Given the description of an element on the screen output the (x, y) to click on. 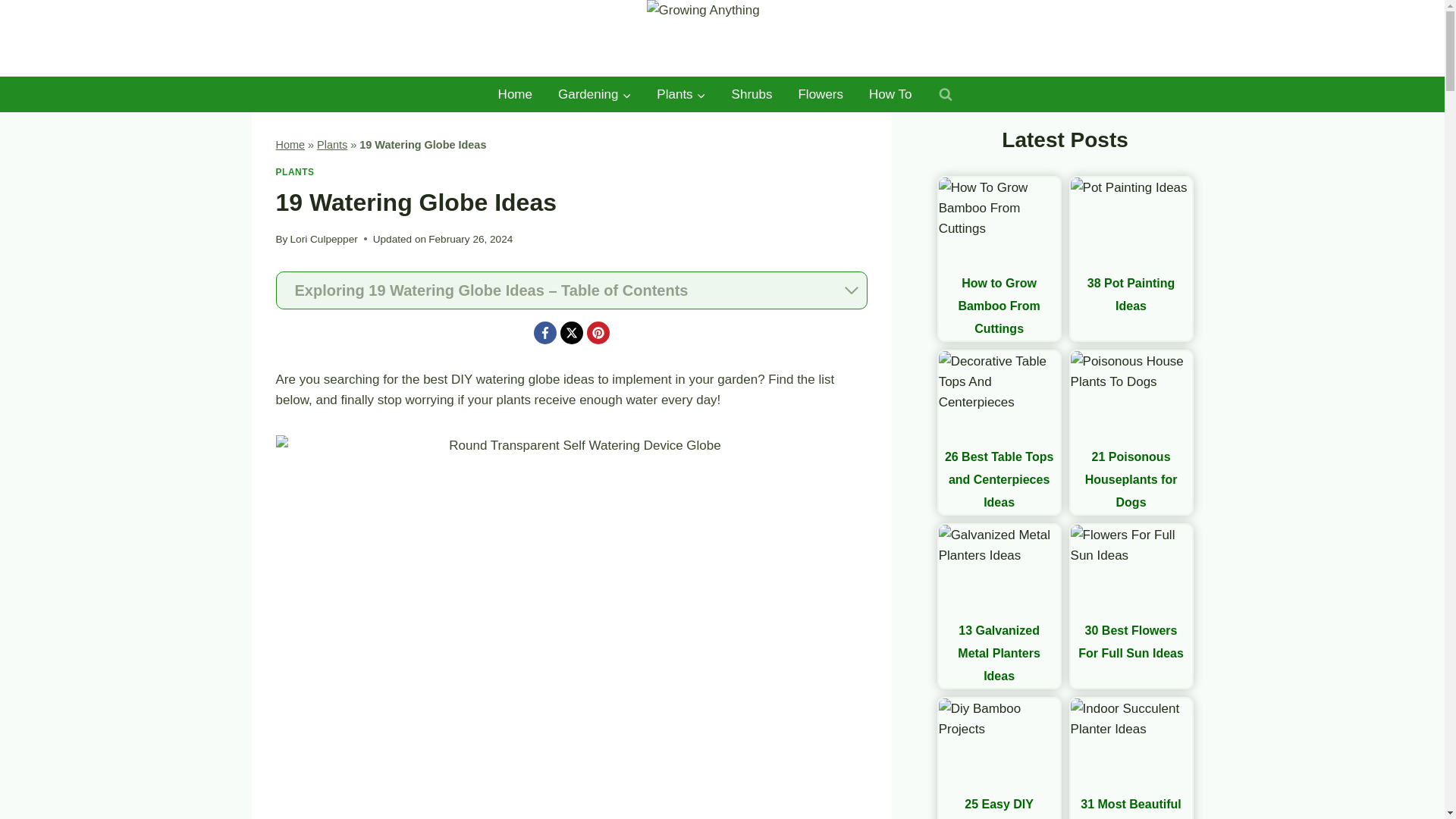
Plants (332, 144)
Home (514, 94)
How To (890, 94)
Home (290, 144)
Flowers (820, 94)
Plants (680, 94)
Gardening (593, 94)
PLANTS (295, 172)
Home (514, 94)
Shrubs (752, 94)
